Given the description of an element on the screen output the (x, y) to click on. 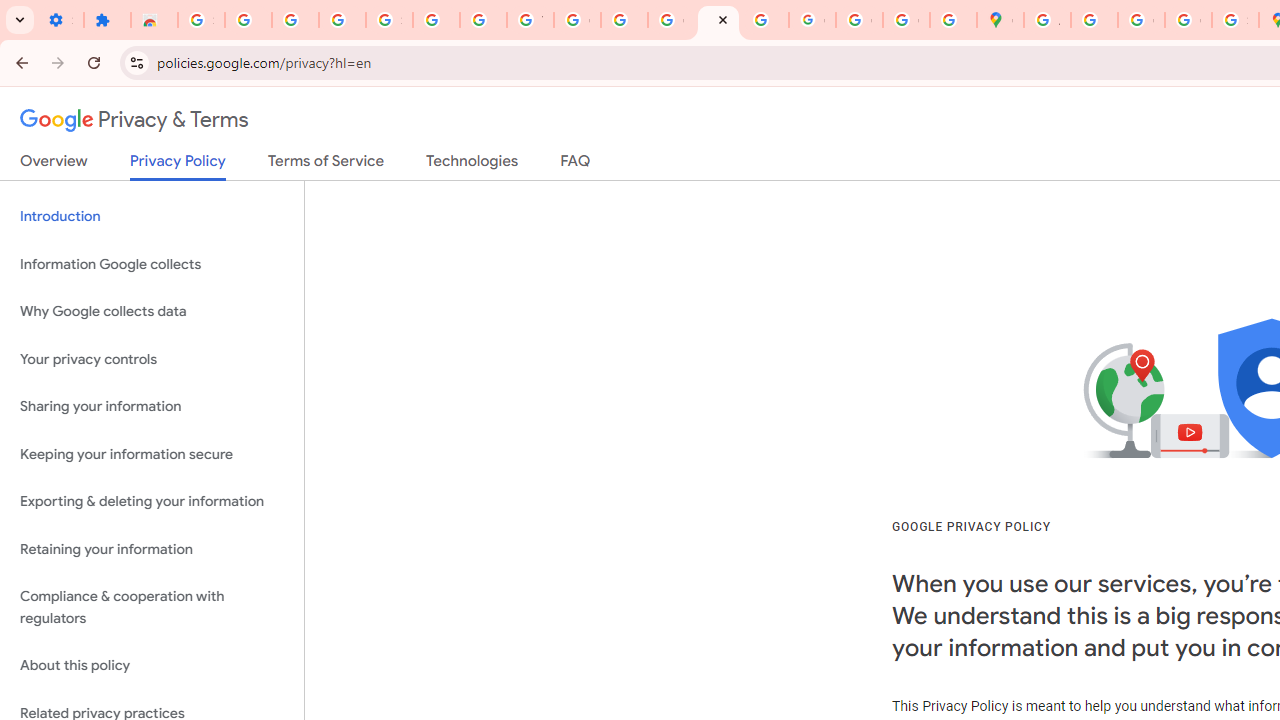
YouTube (530, 20)
Retaining your information (152, 548)
Back (19, 62)
Introduction (152, 216)
https://scholar.google.com/ (623, 20)
Google Maps (999, 20)
Privacy Policy (177, 166)
